Given the description of an element on the screen output the (x, y) to click on. 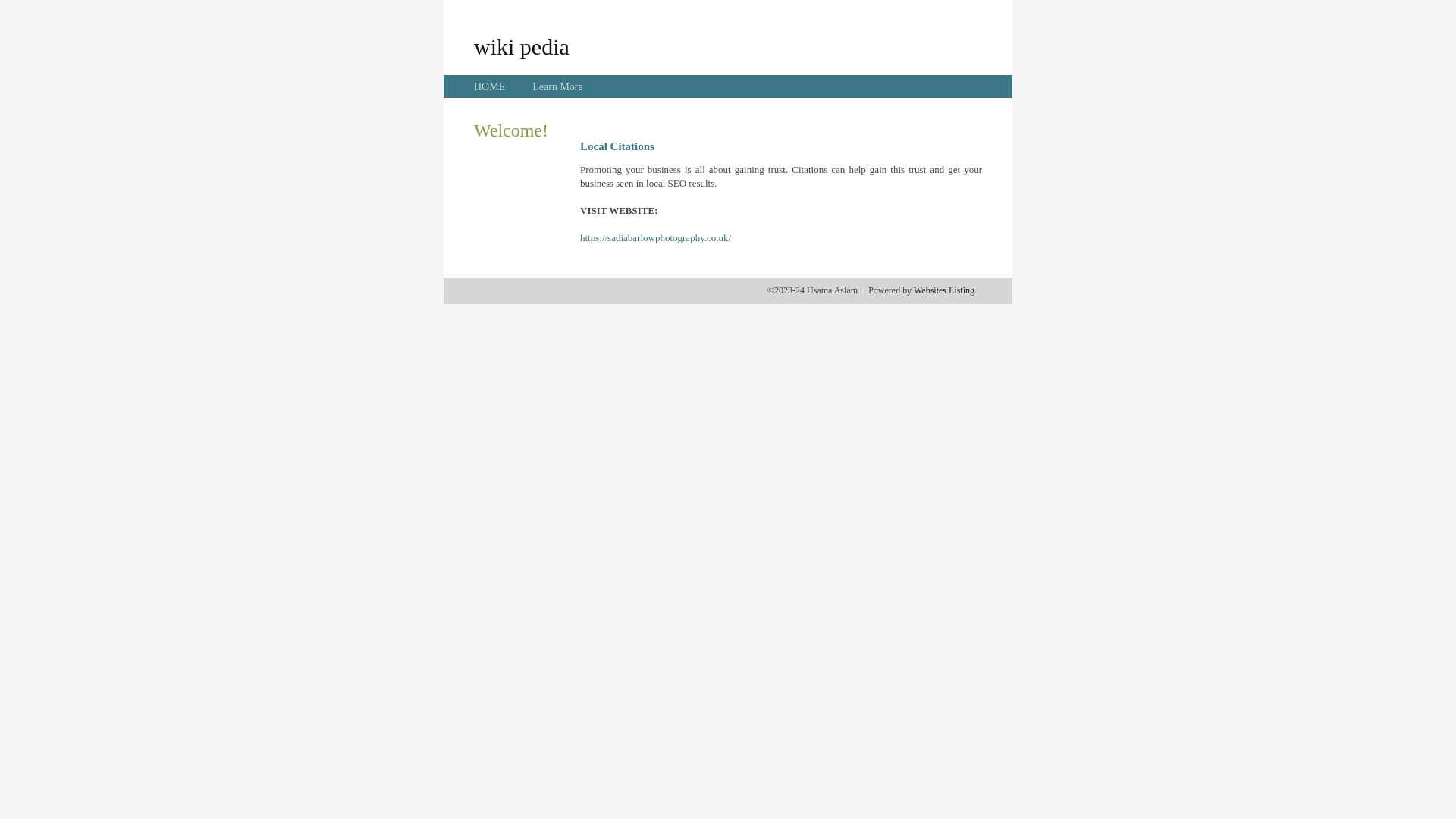
HOME Element type: text (489, 86)
Learn More Element type: text (557, 86)
Websites Listing Element type: text (943, 290)
wiki pedia Element type: text (521, 46)
https://sadiabarlowphotography.co.uk/ Element type: text (655, 237)
